Given the description of an element on the screen output the (x, y) to click on. 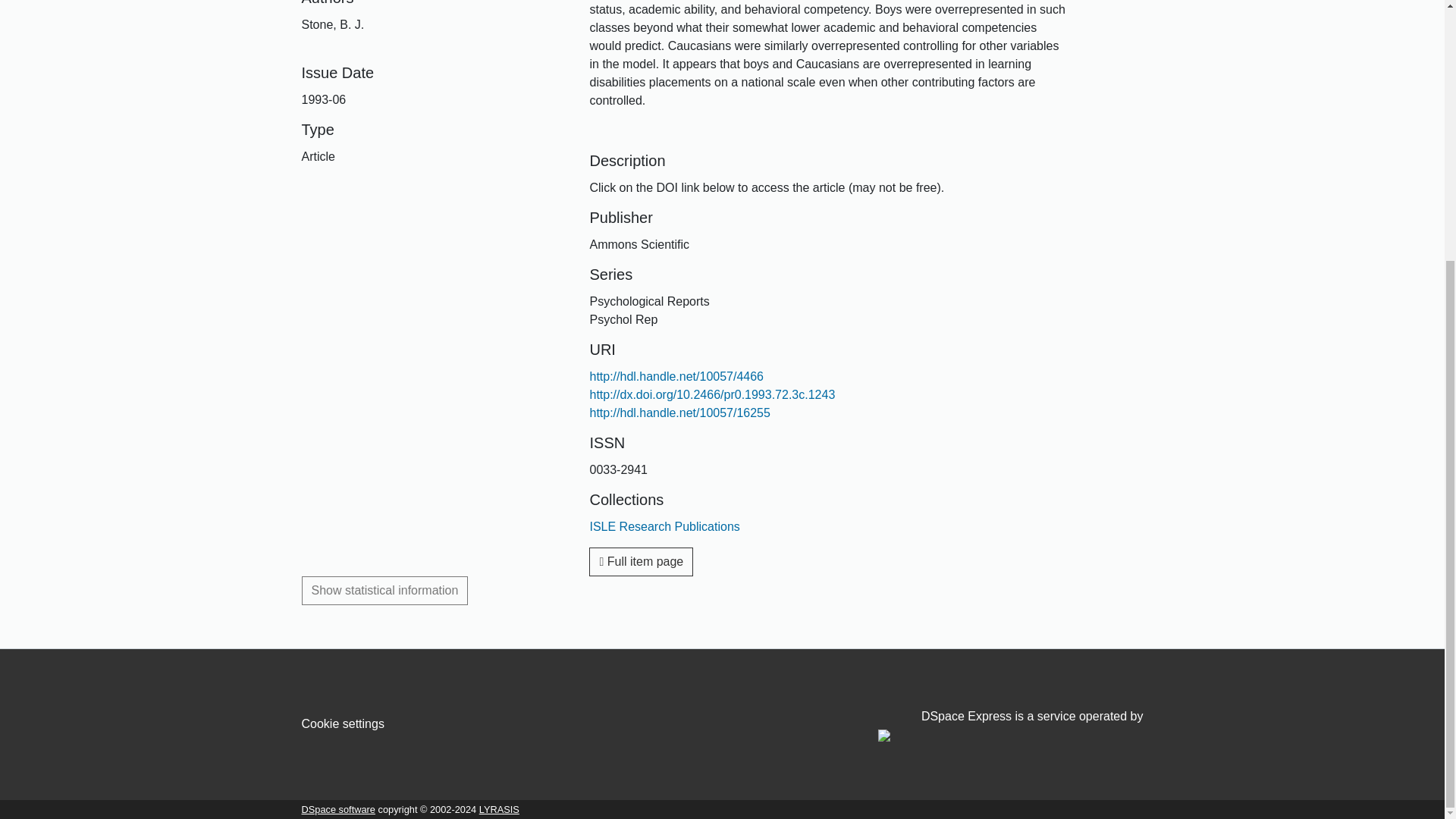
DSpace Express is a service operated by (1009, 726)
Cookie settings (342, 723)
ISLE Research Publications (664, 526)
Full item page (641, 561)
LYRASIS (499, 808)
Show statistical information (384, 590)
DSpace software (338, 808)
